Given the description of an element on the screen output the (x, y) to click on. 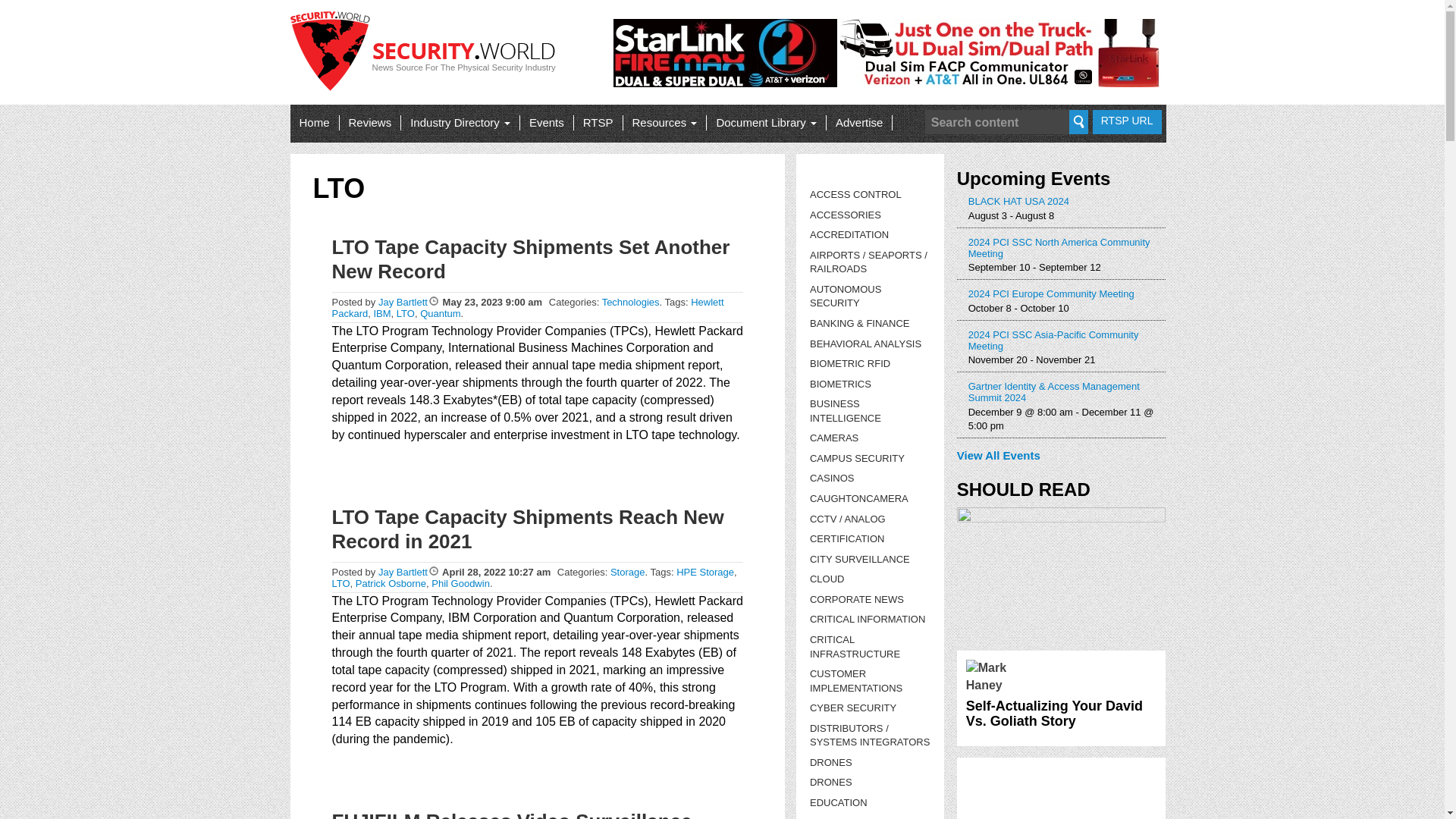
May 23, 2023 9:00 am (492, 301)
Advertise (859, 122)
LTO Tape Capacity Shipments Set Another New Record (530, 259)
Home (313, 122)
Events (546, 122)
Security.World (425, 58)
Jay Bartlett (403, 571)
Hewlett Packard (527, 307)
Reviews (370, 122)
RTSP (598, 122)
RTSP URL (1127, 121)
LTO (405, 313)
RTSP (598, 122)
Events (546, 122)
Resources (664, 122)
